Given the description of an element on the screen output the (x, y) to click on. 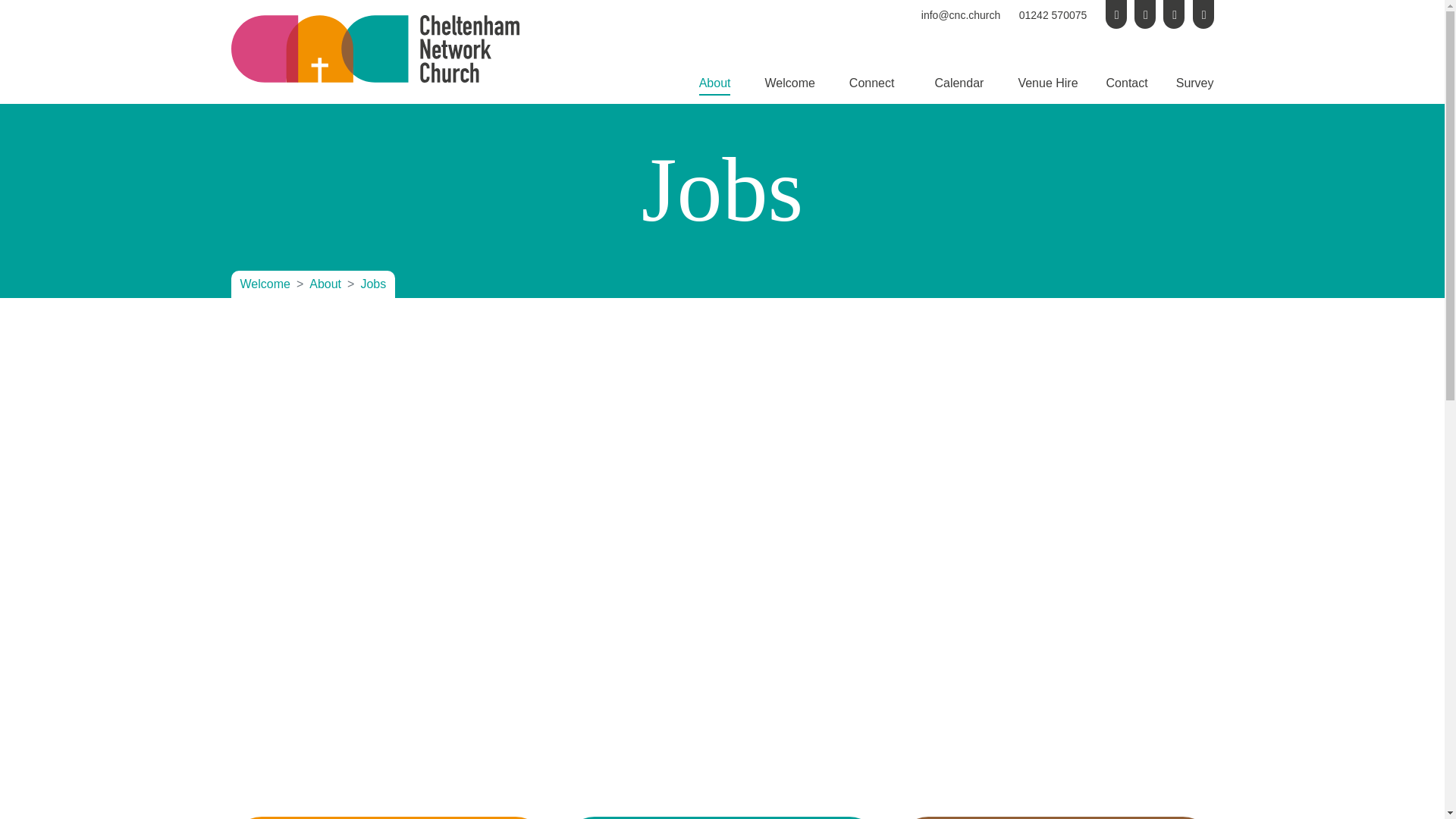
Survey (1195, 84)
Welcome (788, 84)
About (714, 84)
Venue Hire (1047, 84)
Calendar (959, 84)
Connect (872, 84)
Contact (1127, 84)
01242 570075 (1053, 15)
